Given the description of an element on the screen output the (x, y) to click on. 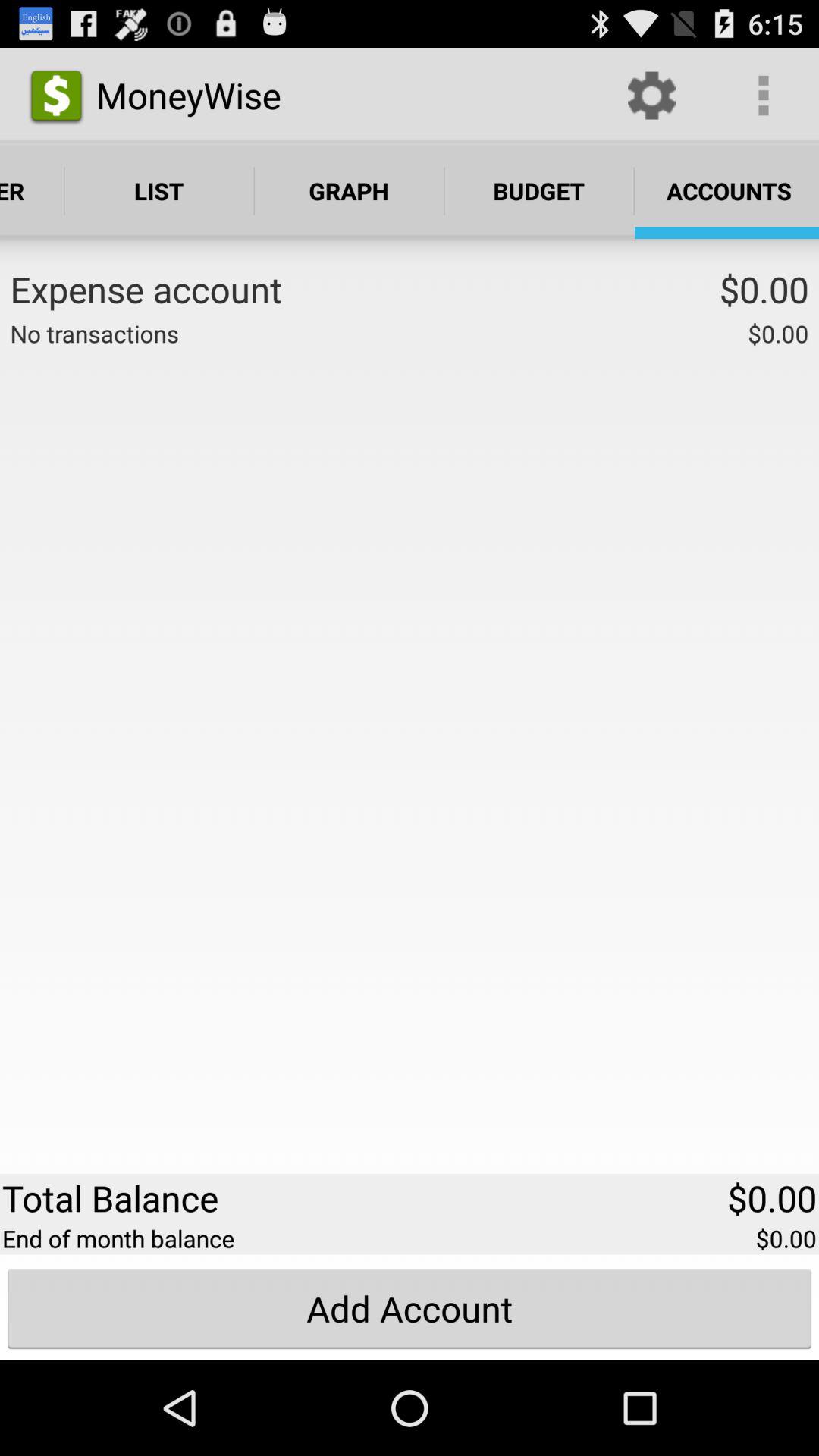
press the app to the left of $0.00 (500, 292)
